Given the description of an element on the screen output the (x, y) to click on. 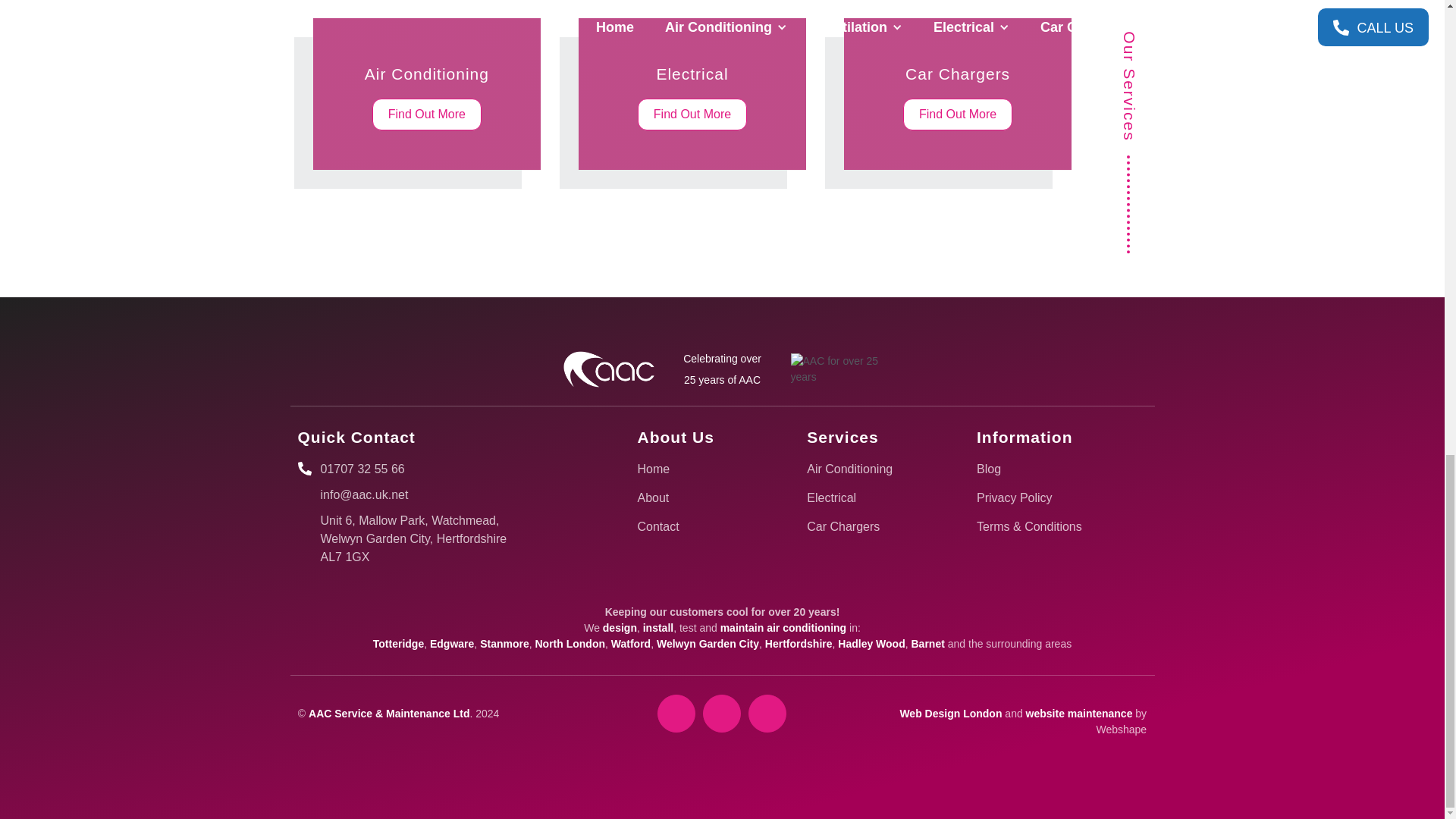
Contact (696, 526)
maintain air conditioning (782, 627)
design (619, 627)
About (696, 497)
Privacy Policy (1036, 497)
Car Chargers (957, 93)
Blog (866, 526)
